Given the description of an element on the screen output the (x, y) to click on. 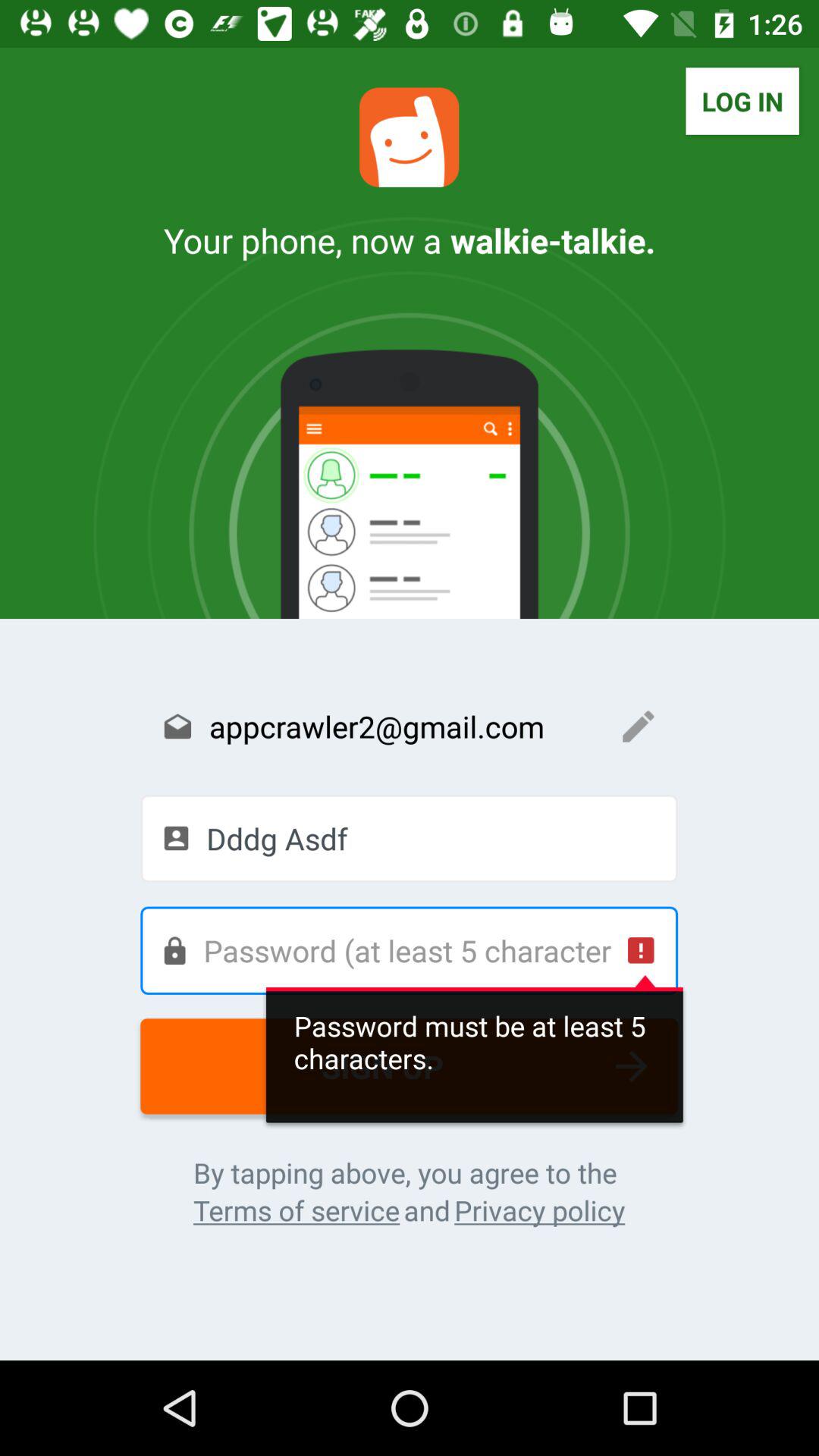
flip until privacy policy icon (539, 1210)
